Given the description of an element on the screen output the (x, y) to click on. 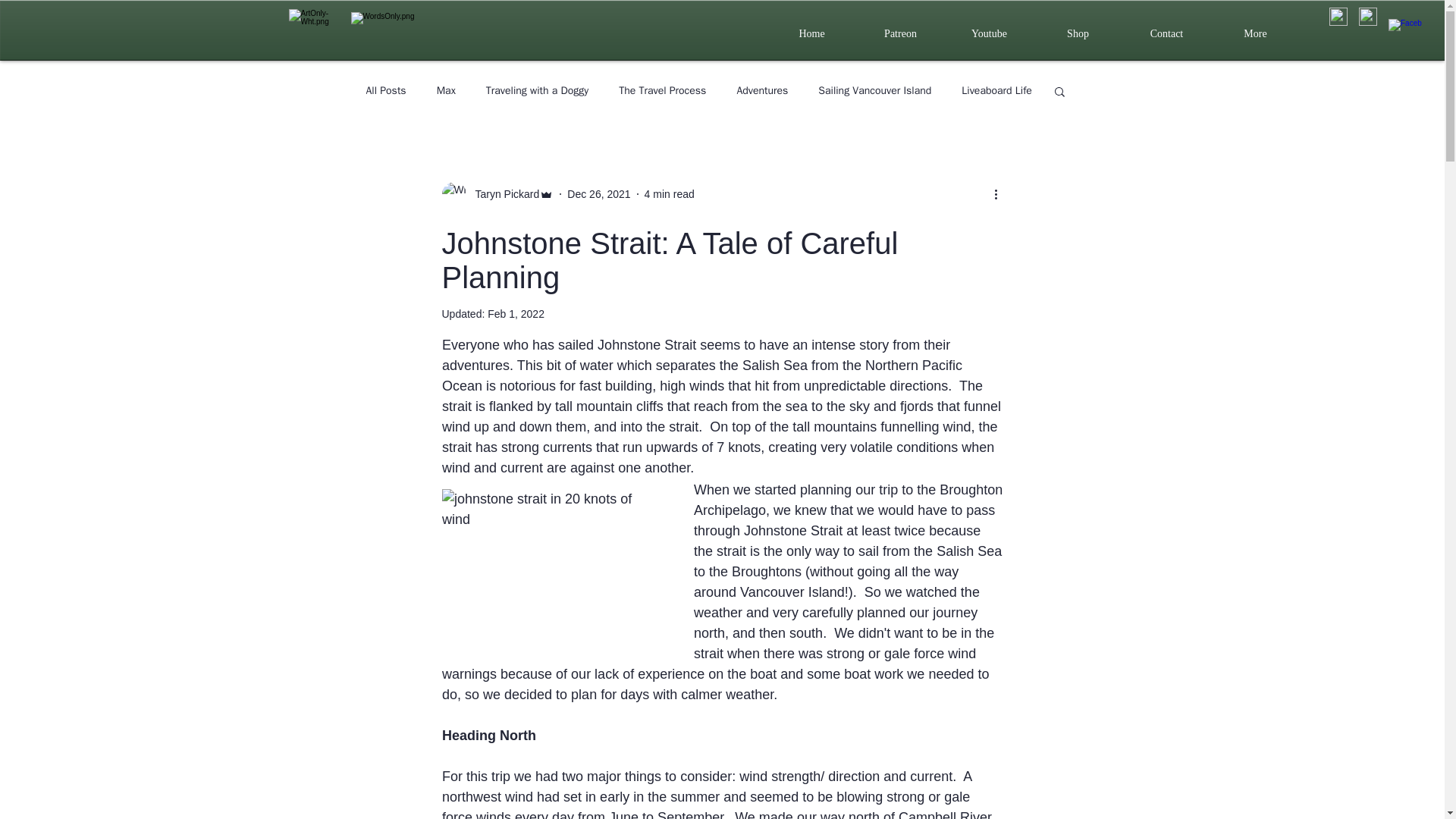
All Posts (385, 90)
Liveaboard Life (996, 90)
Feb 1, 2022 (515, 313)
Dec 26, 2021 (598, 193)
Taryn Pickard (497, 193)
Sailing Vancouver Island (874, 90)
Contact (1166, 34)
The Travel Process (662, 90)
Max (445, 90)
Youtube (988, 34)
